Given the description of an element on the screen output the (x, y) to click on. 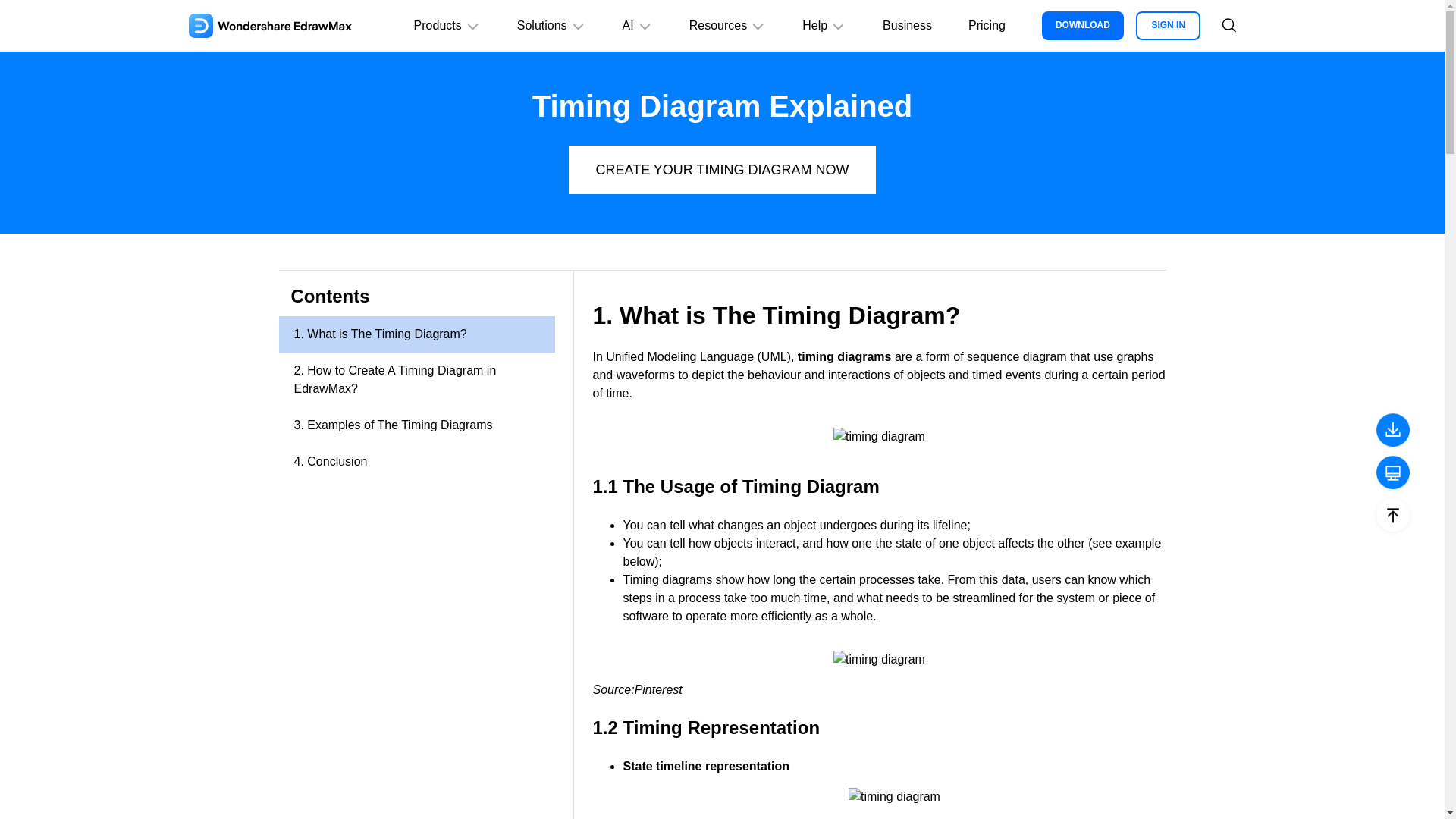
Try Online (1392, 473)
Back to Top (1392, 515)
Free Download (1392, 430)
Solutions (551, 25)
Resources (727, 25)
Products (447, 25)
AI (637, 25)
